Given the description of an element on the screen output the (x, y) to click on. 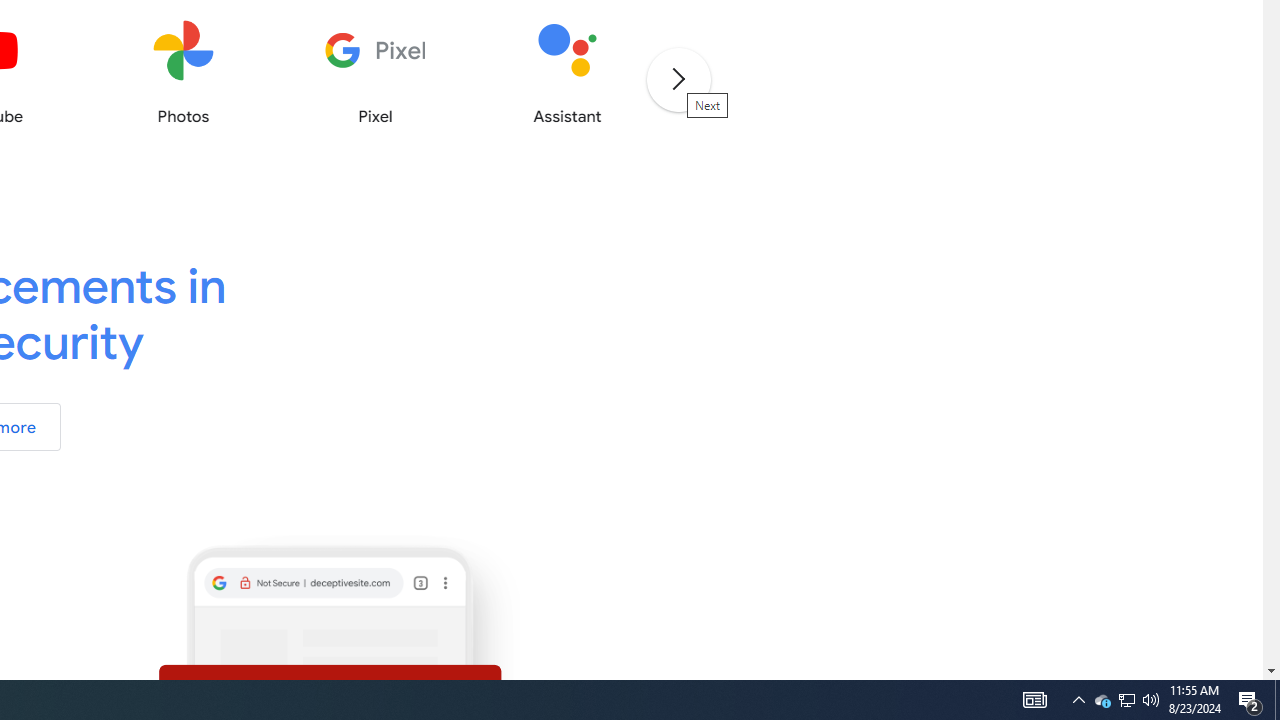
Next (677, 78)
